Given the description of an element on the screen output the (x, y) to click on. 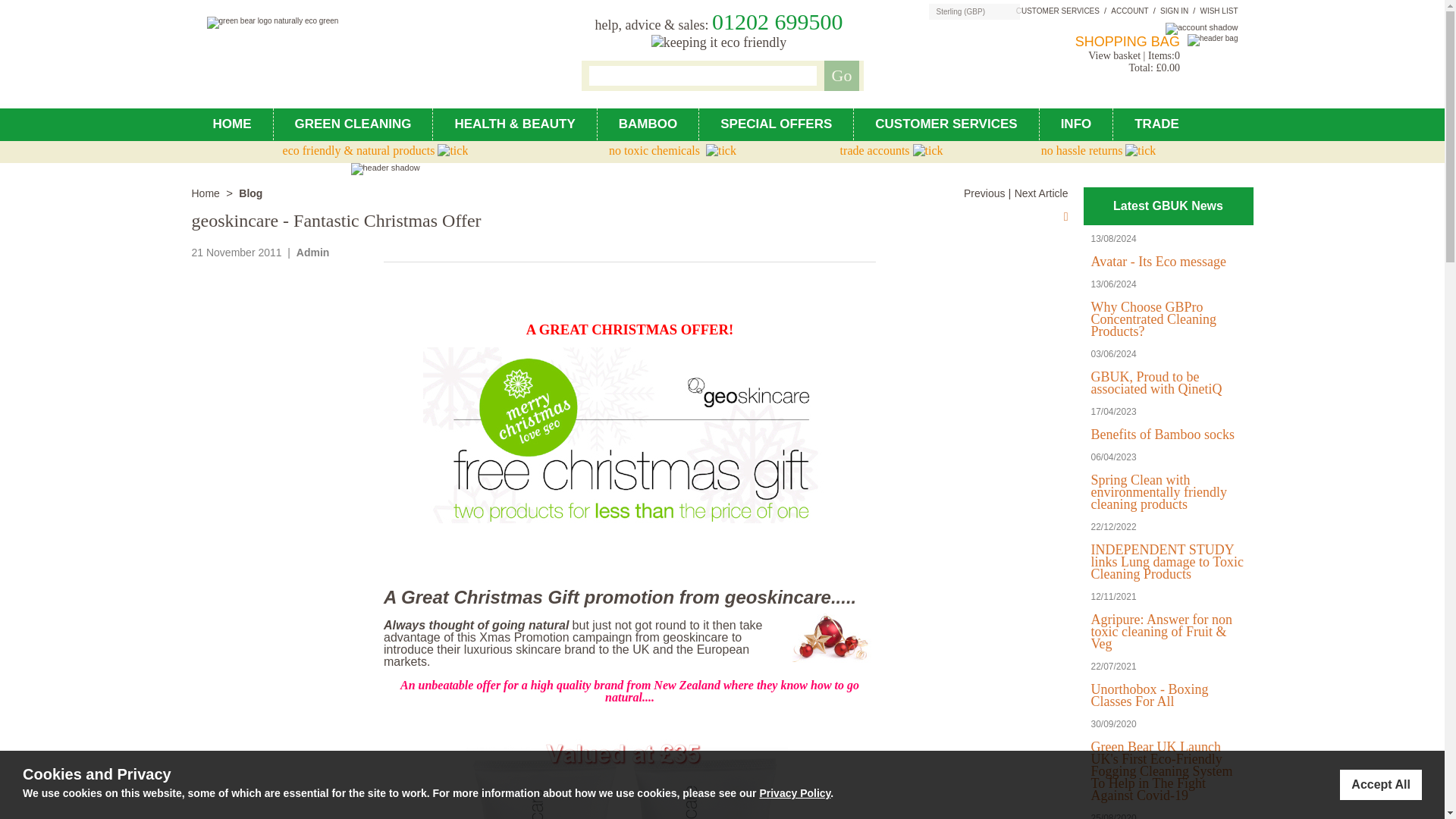
Avatar - Its Eco message (1157, 261)
Benefits of Bamboo socks (1161, 434)
Next Article (1041, 193)
Blog (250, 193)
Spring Clean with environmentally friendly cleaning products (1157, 491)
Unorthobox - Boxing Classes For All (1149, 695)
Previous (983, 193)
for more detail and information on our product range (1076, 124)
GBUK, Proud to be associated with QinetiQ (1155, 382)
